Given the description of an element on the screen output the (x, y) to click on. 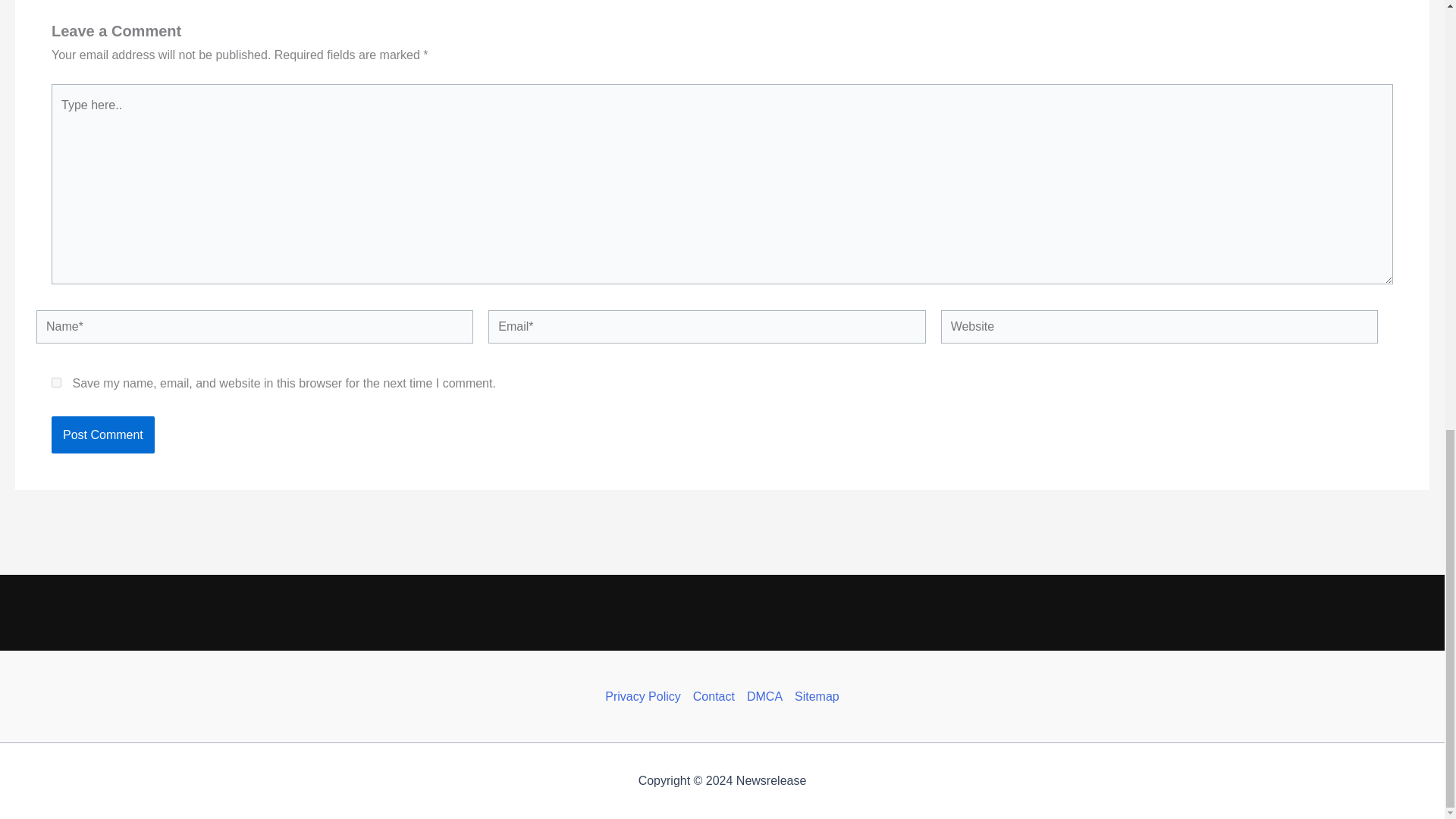
Contact (714, 696)
Sitemap (814, 696)
Post Comment (102, 435)
DMCA (765, 696)
yes (55, 382)
Post Comment (102, 435)
Privacy Policy (646, 696)
